Given the description of an element on the screen output the (x, y) to click on. 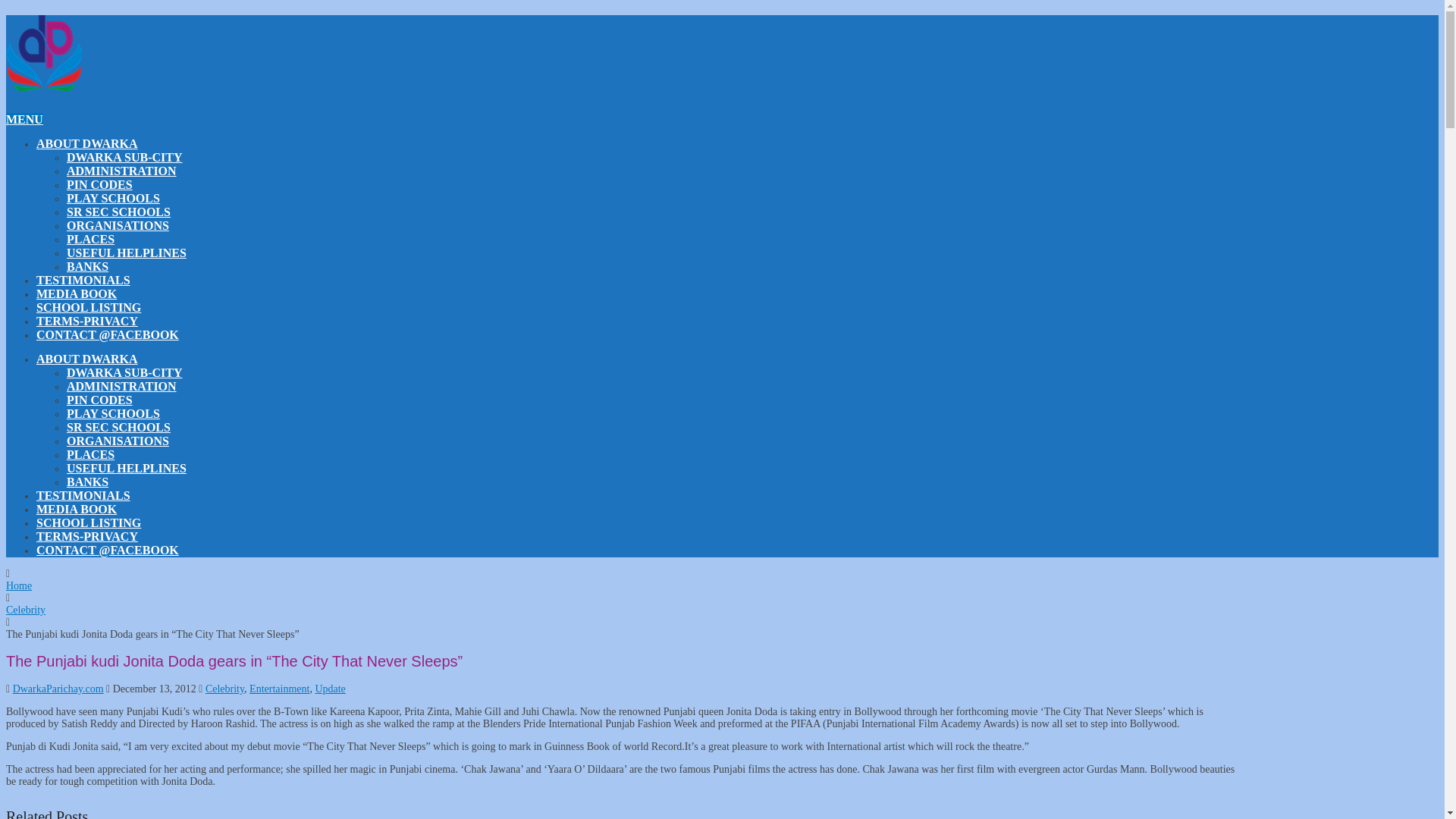
SCHOOL LISTING (88, 522)
TERMS-PRIVACY (87, 320)
PIN CODES (99, 184)
SR SEC SCHOOLS (118, 211)
TESTIMONIALS (83, 495)
View all posts in Celebrity (224, 688)
ADMINISTRATION (121, 170)
BANKS (86, 266)
PLACES (90, 238)
ABOUT DWARKA (87, 143)
DWARKA SUB-CITY (124, 156)
TESTIMONIALS (83, 279)
View all posts in Update (329, 688)
DwarkaParichay.com (58, 688)
Entertainment (278, 688)
